Given the description of an element on the screen output the (x, y) to click on. 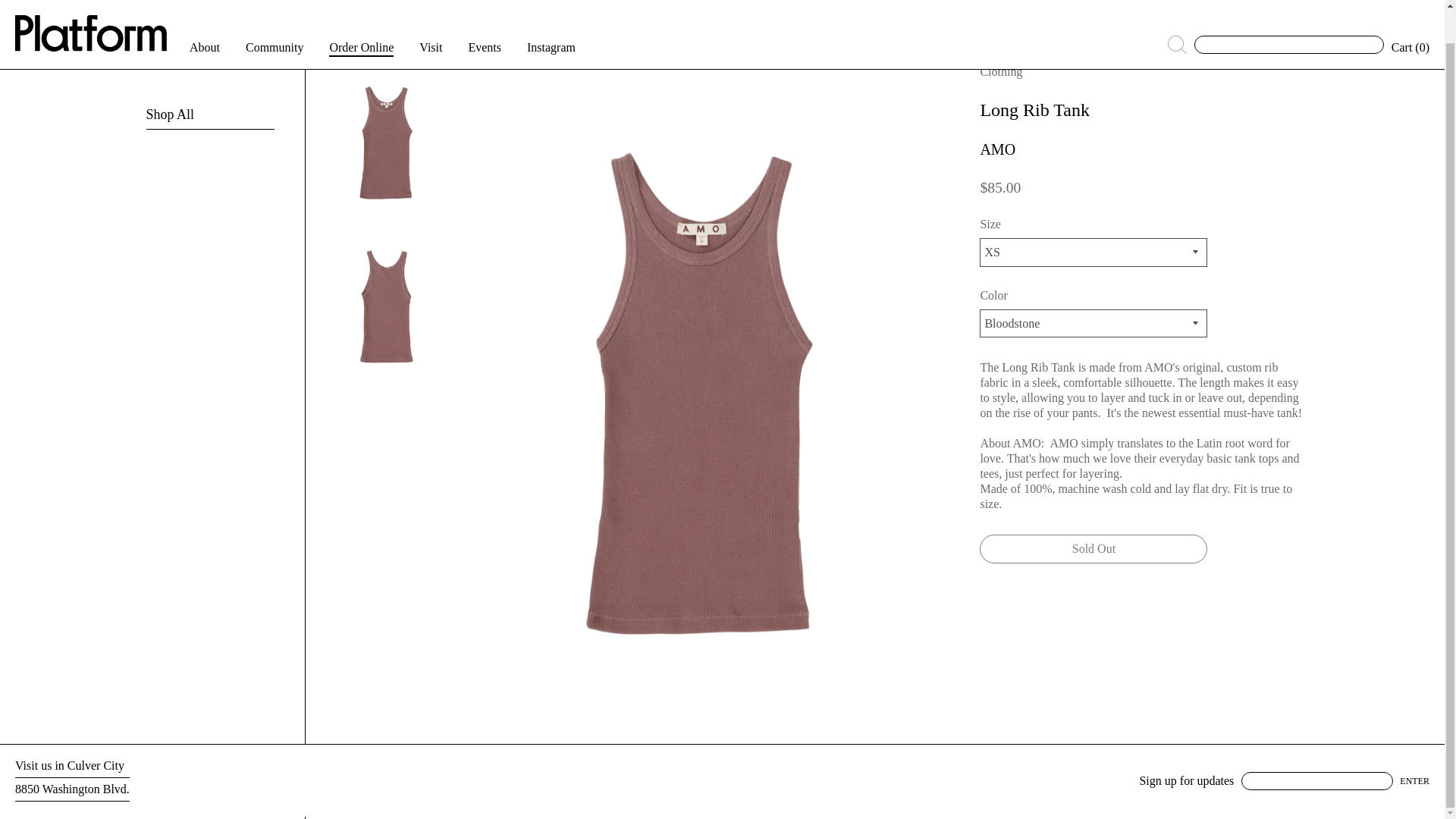
Sold Out (1093, 548)
Instagram (551, 12)
ENTER (1414, 780)
Shop All (169, 79)
AMO (996, 149)
ENTER (1414, 780)
About (204, 12)
Events (483, 12)
Visit (430, 12)
Order Online (361, 12)
Community (274, 12)
